Given the description of an element on the screen output the (x, y) to click on. 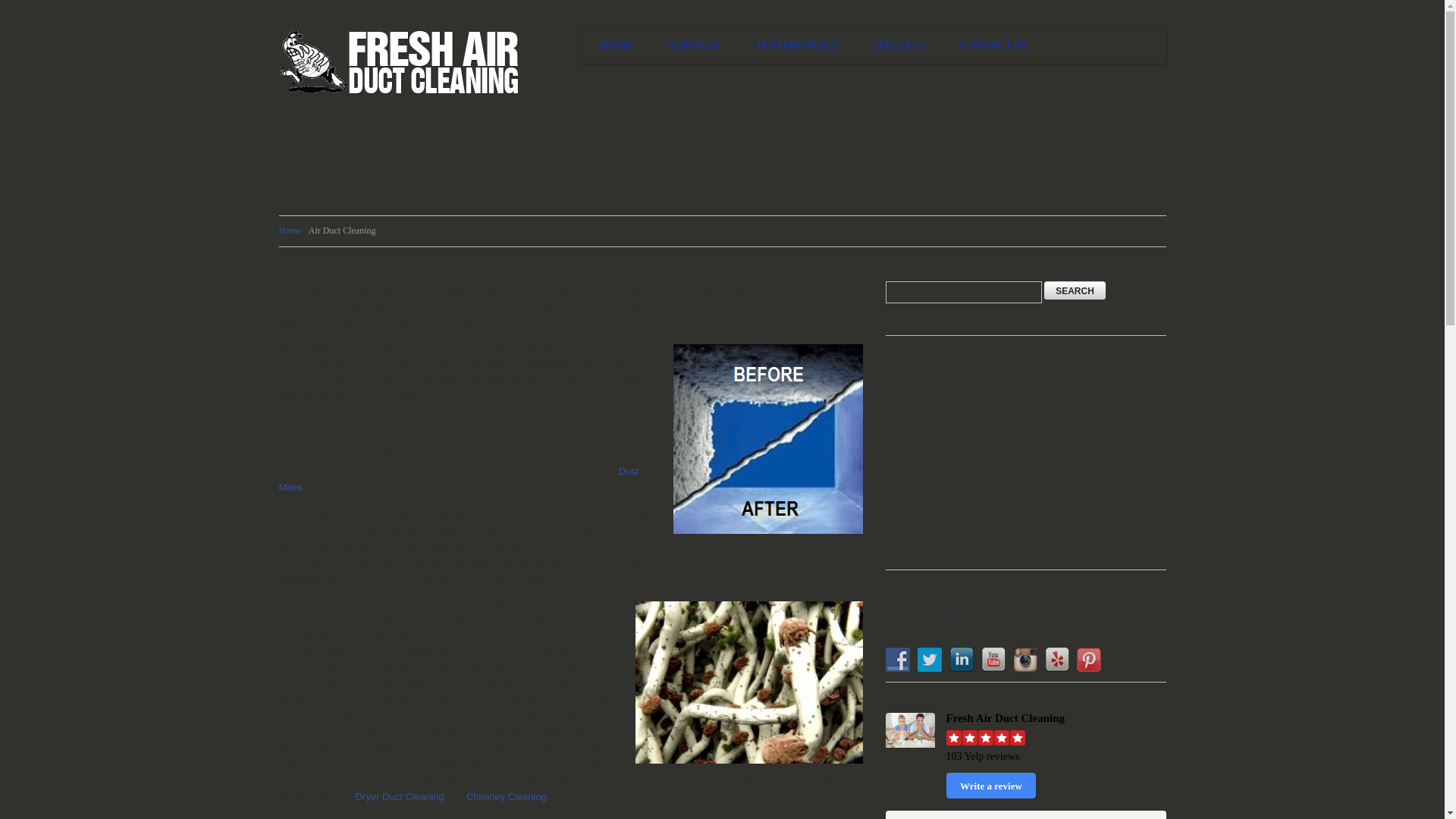
Chimney Cleaning. (507, 796)
HOME (616, 44)
SPECIALS (899, 44)
CONTACT US (993, 44)
search (1074, 290)
Follow Us on Facebook (897, 659)
search (1074, 290)
TESTIMONIALS (796, 44)
Follow Us on YouTube (993, 659)
Follow Us on LinkedIn (961, 659)
Follow Us on Yelp (1056, 659)
Follow Us on Twitter (929, 659)
Follow Us on Instagram (1024, 659)
Dryer Duct Cleaning (400, 796)
SERVICES (694, 44)
